Given the description of an element on the screen output the (x, y) to click on. 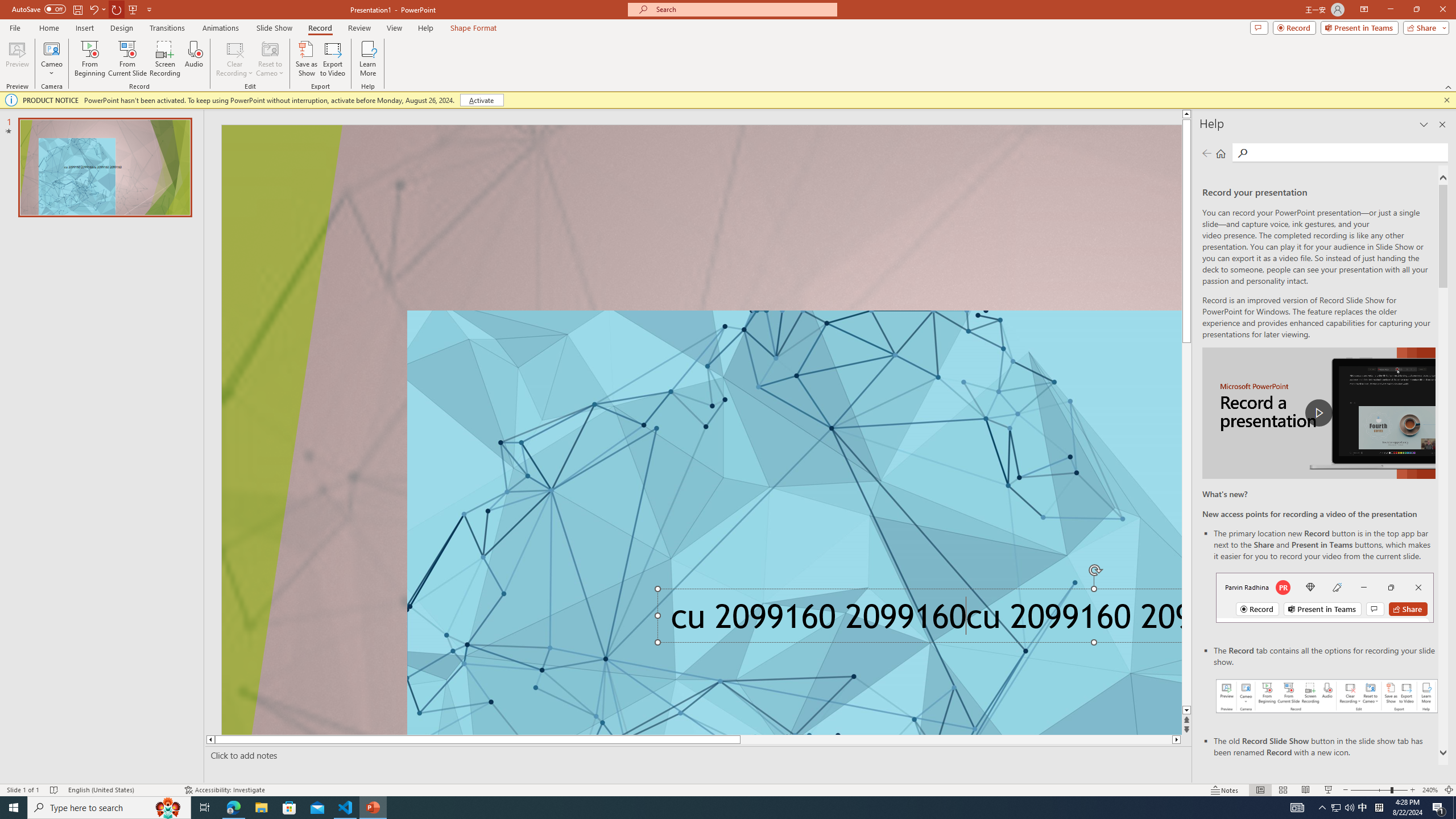
An abstract genetic concept (701, 429)
Zoom 240% (1430, 790)
